Given the description of an element on the screen output the (x, y) to click on. 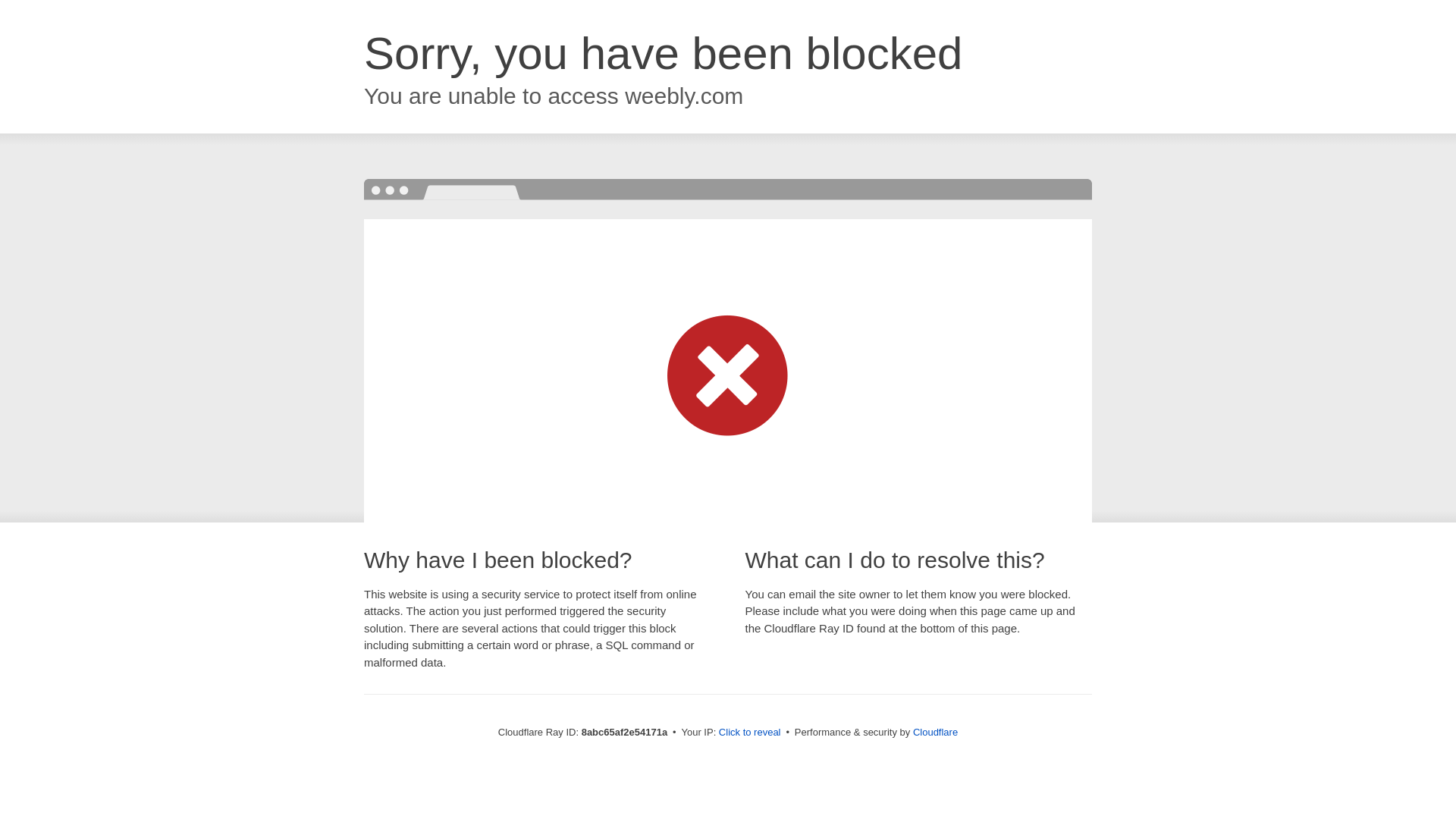
Cloudflare (935, 731)
Click to reveal (749, 732)
